Given the description of an element on the screen output the (x, y) to click on. 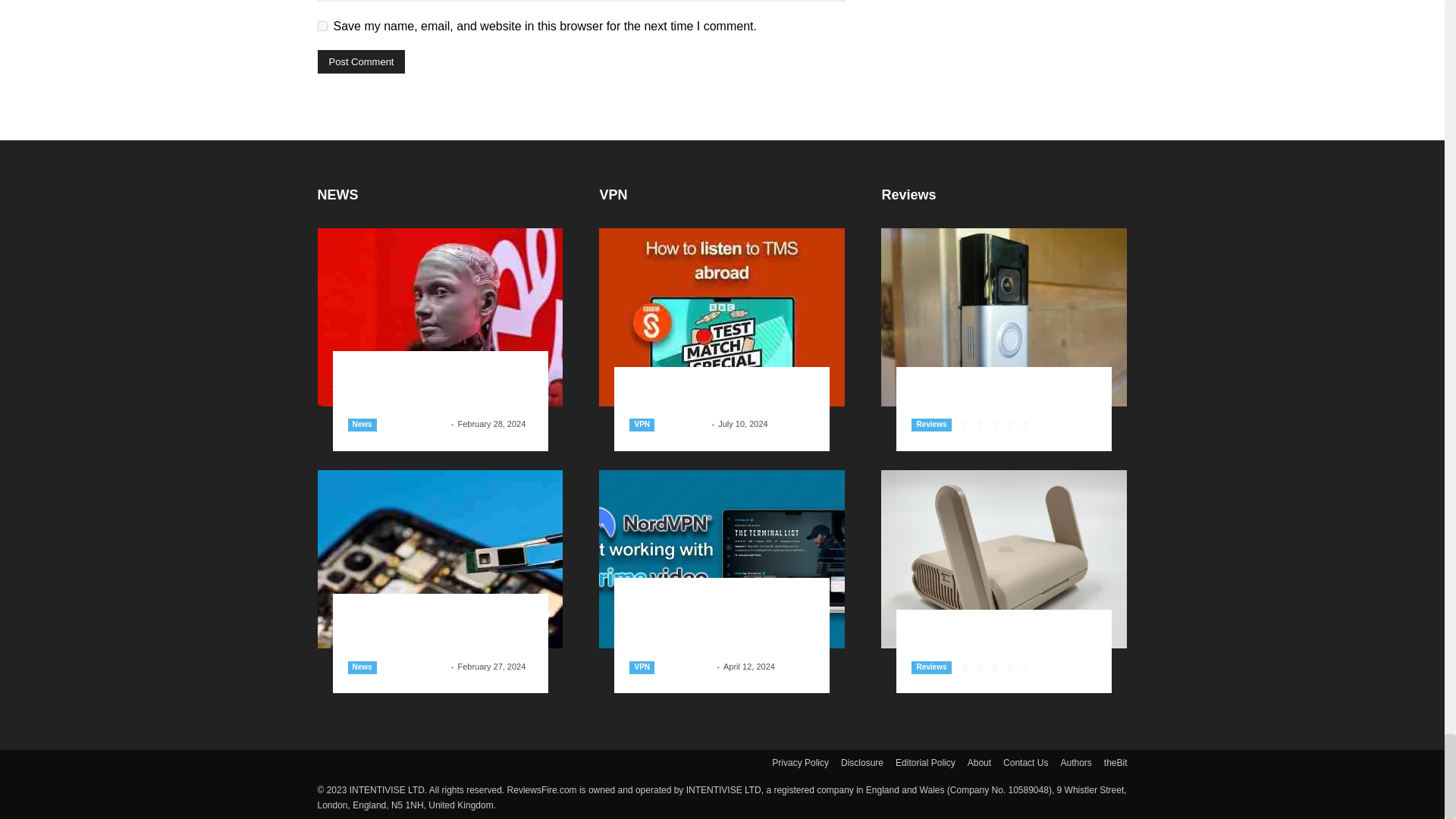
Post Comment (360, 61)
yes (321, 26)
